Given the description of an element on the screen output the (x, y) to click on. 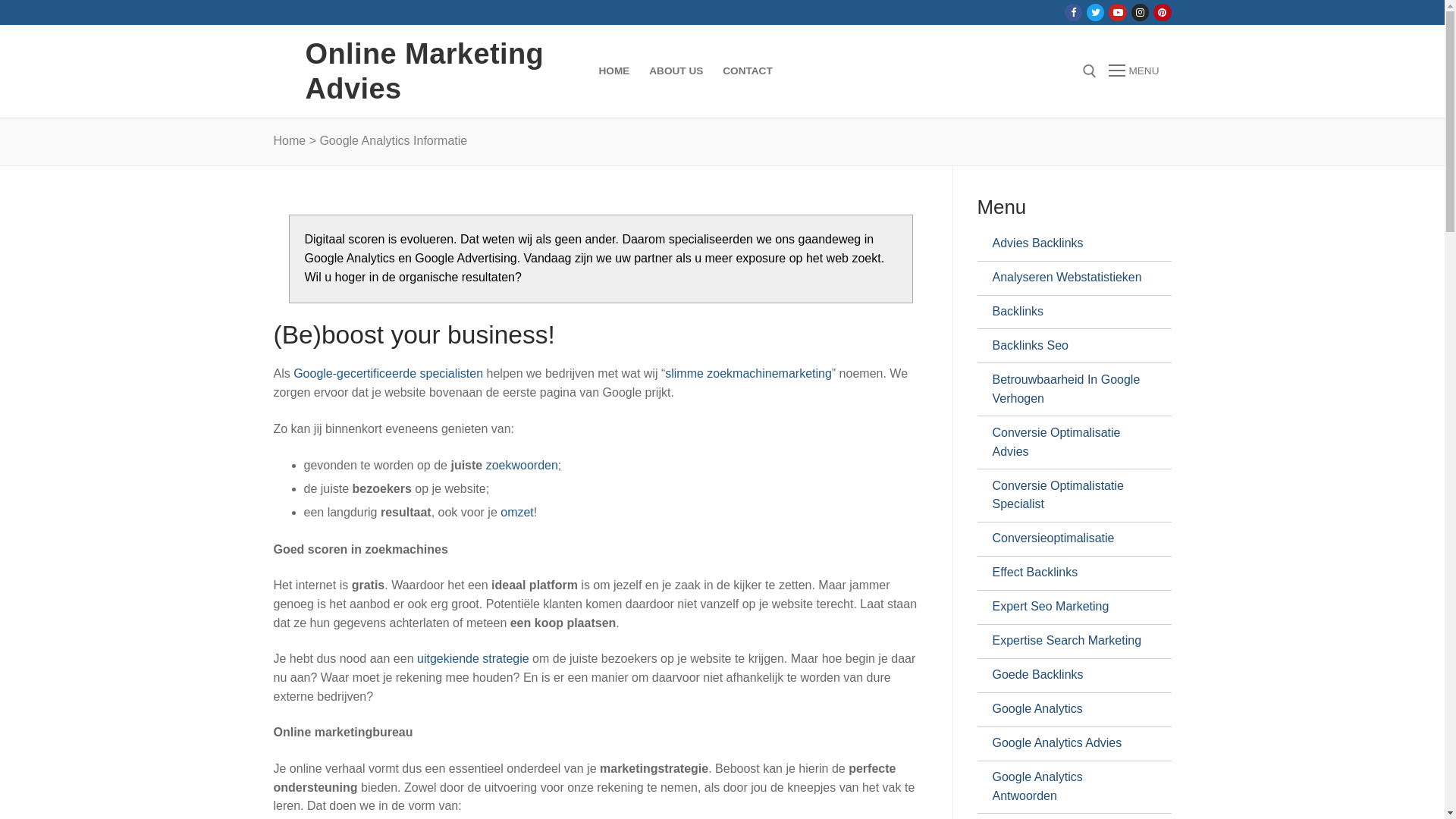
Google Analytics Element type: text (1067, 709)
Online Marketing Advies Element type: text (440, 71)
Conversie Optimalistatie Specialist Element type: text (1067, 495)
Facebook Element type: hover (1073, 12)
omzet Element type: text (516, 511)
Backlinks Element type: text (1067, 312)
Expert Seo Marketing Element type: text (1067, 607)
slimme zoekmachinemarketing Element type: text (748, 373)
zoekwoorden Element type: text (522, 464)
Backlinks Seo Element type: text (1067, 345)
MENU Element type: text (1133, 71)
ABOUT US Element type: text (675, 70)
uitgekiende strategie Element type: text (473, 658)
Conversieoptimalisatie Element type: text (1067, 538)
Naar de inhoud springen Element type: text (0, 0)
Twitter Element type: hover (1095, 12)
Effect Backlinks Element type: text (1067, 572)
Youtube Element type: hover (1118, 12)
Goede Backlinks Element type: text (1067, 675)
Google-gecertificeerde specialisten Element type: text (388, 373)
Analyseren Webstatistieken Element type: text (1067, 277)
Expertise Search Marketing Element type: text (1067, 641)
Betrouwbaarheid In Google Verhogen Element type: text (1067, 389)
Advies Backlinks Element type: text (1067, 243)
CONTACT Element type: text (746, 70)
HOME Element type: text (613, 70)
Pinterest Element type: hover (1162, 12)
Google Analytics Advies Element type: text (1067, 743)
Instagram Element type: hover (1140, 12)
Conversie Optimalisatie Advies Element type: text (1067, 442)
Google Analytics Antwoorden Element type: text (1067, 787)
